Given the description of an element on the screen output the (x, y) to click on. 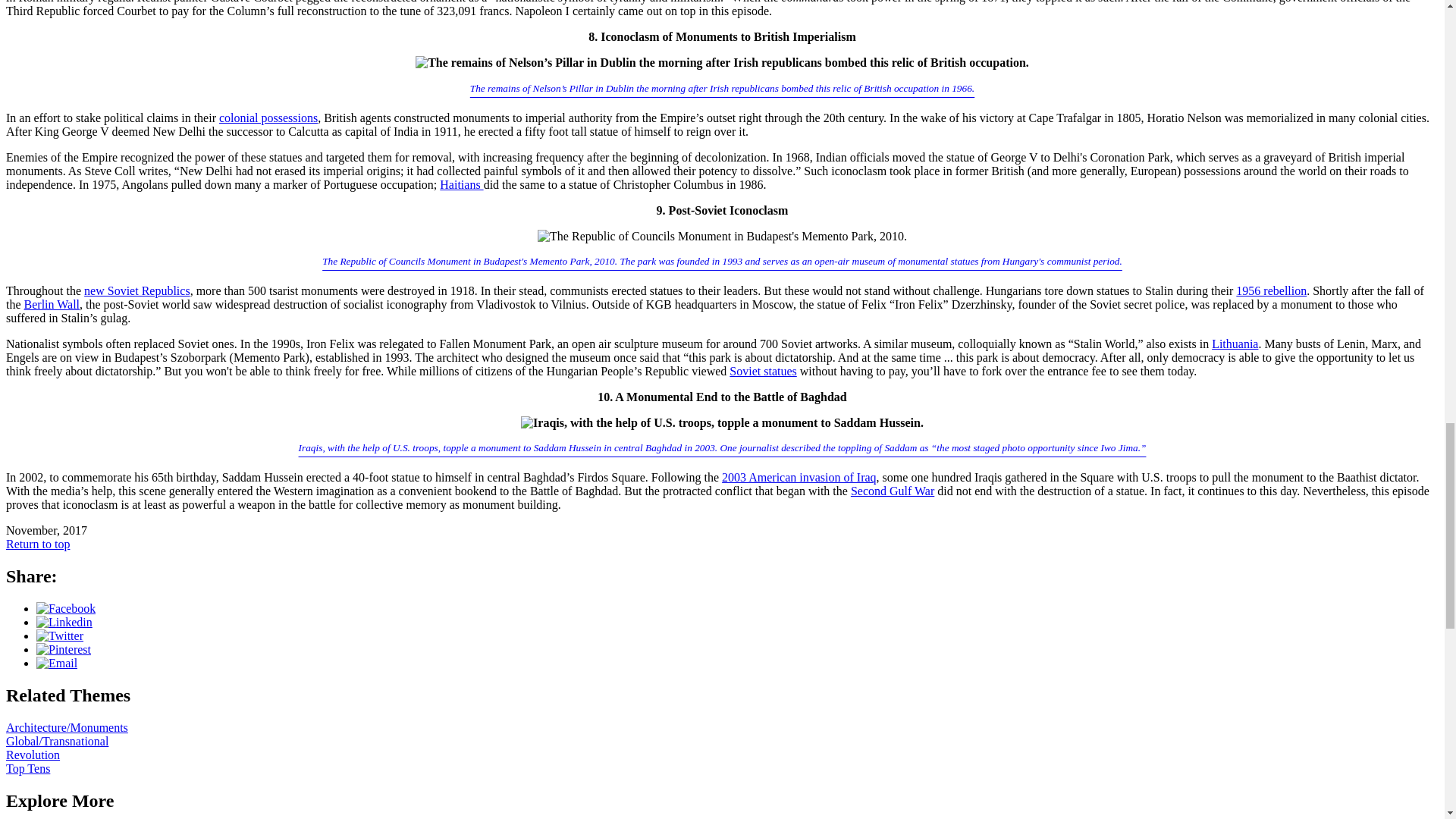
Twitter (59, 635)
new Soviet Republics (137, 290)
1956 rebellion (1271, 290)
colonial possessions (268, 117)
Email (56, 662)
Haitians (461, 184)
Berlin Wall (52, 304)
Linkedin (64, 621)
Facebook (66, 608)
Pinterest (63, 649)
Sunday, November 26, 2017 - 21:42 (46, 530)
